Given the description of an element on the screen output the (x, y) to click on. 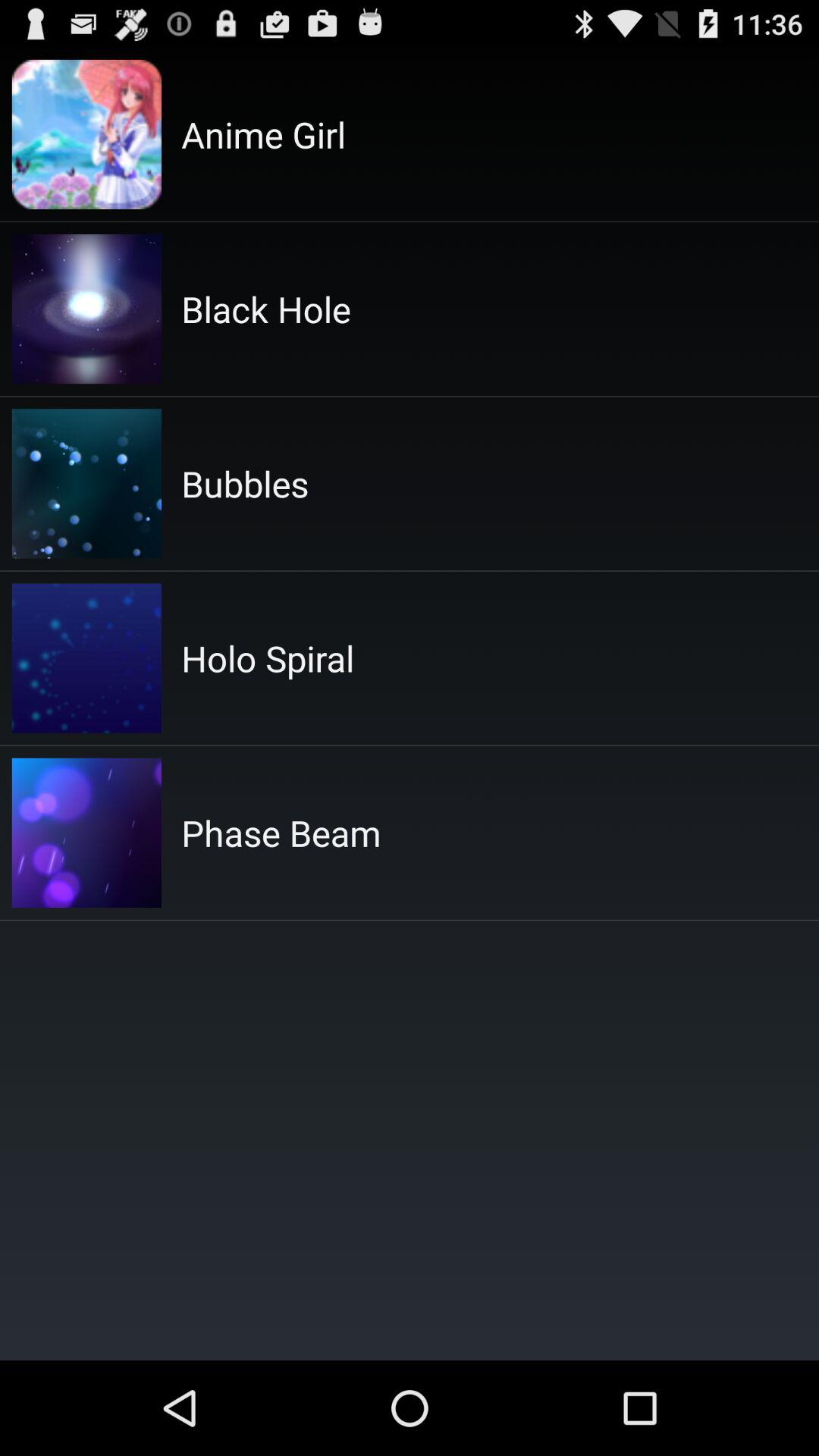
select the icon below the black hole item (244, 483)
